Given the description of an element on the screen output the (x, y) to click on. 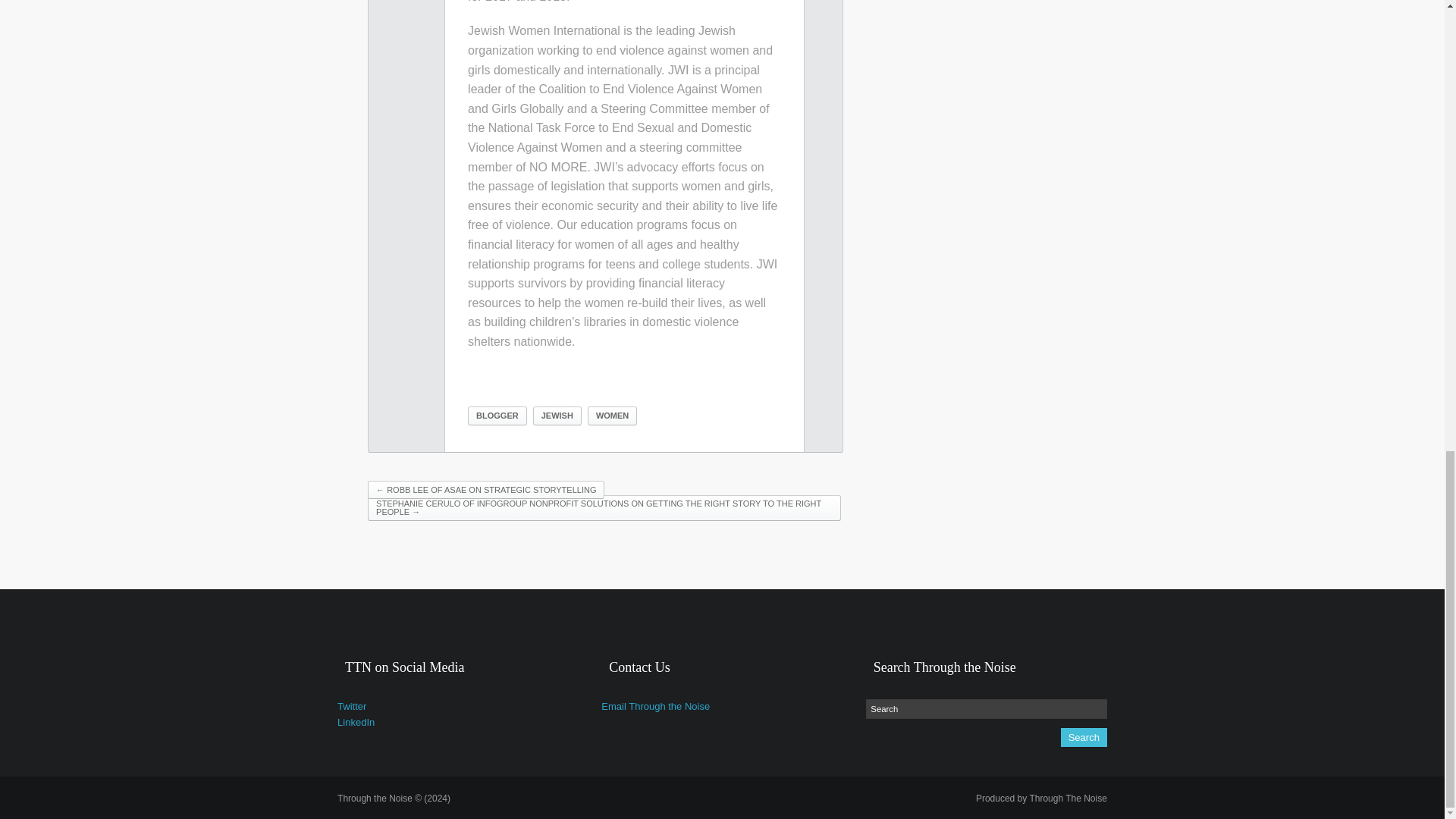
JEWISH (556, 415)
Twitter (351, 706)
Produced by Through The Noise (1040, 798)
Through the Noise (393, 798)
Search (986, 709)
Email Through the Noise (655, 706)
WOMEN (612, 415)
LinkedIn (355, 722)
BLOGGER (497, 415)
Search (1083, 737)
